Given the description of an element on the screen output the (x, y) to click on. 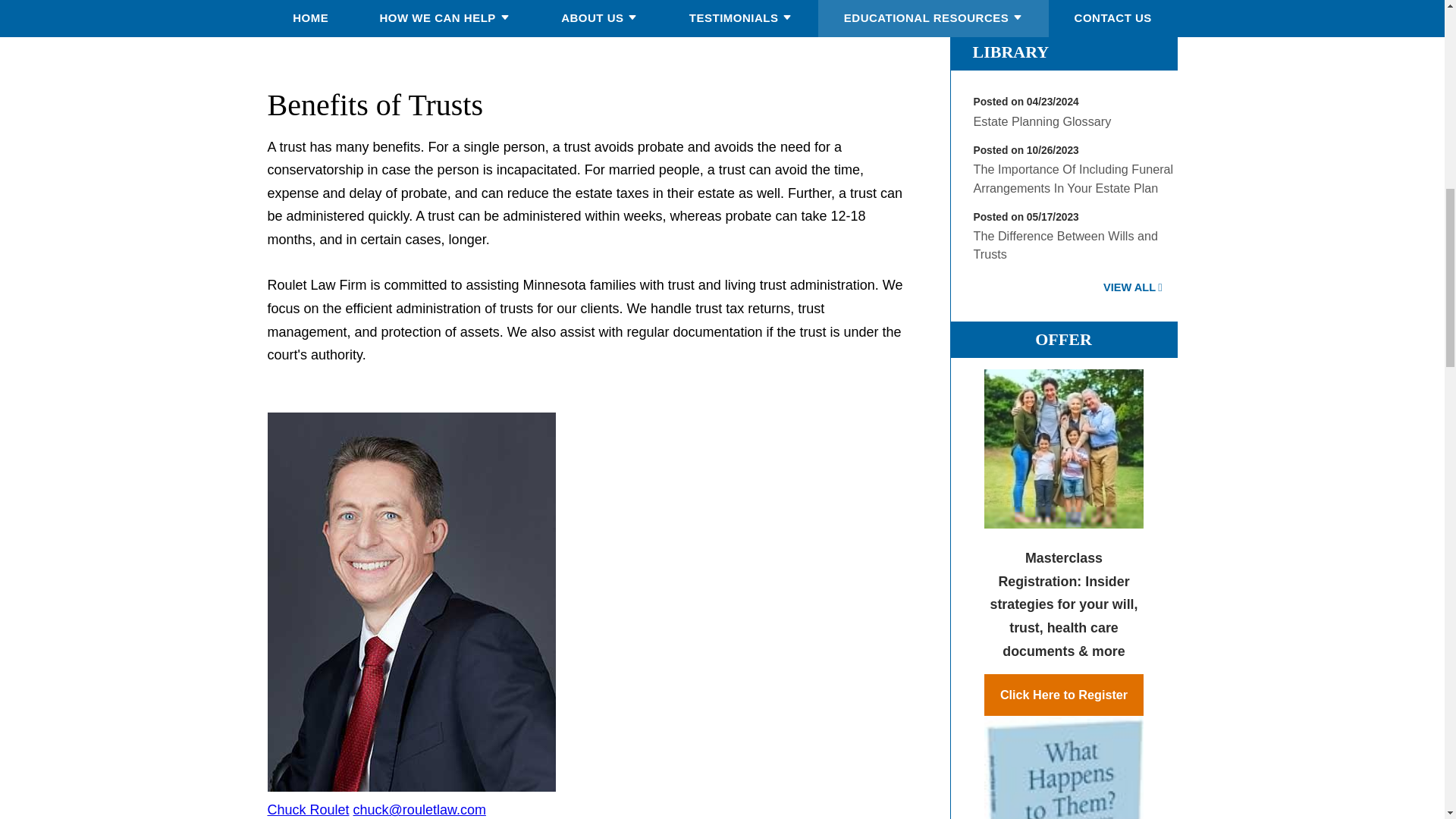
Chuck Roulet (307, 809)
Estate Planning Glossary (1043, 120)
LIBRARY (1010, 51)
